Given the description of an element on the screen output the (x, y) to click on. 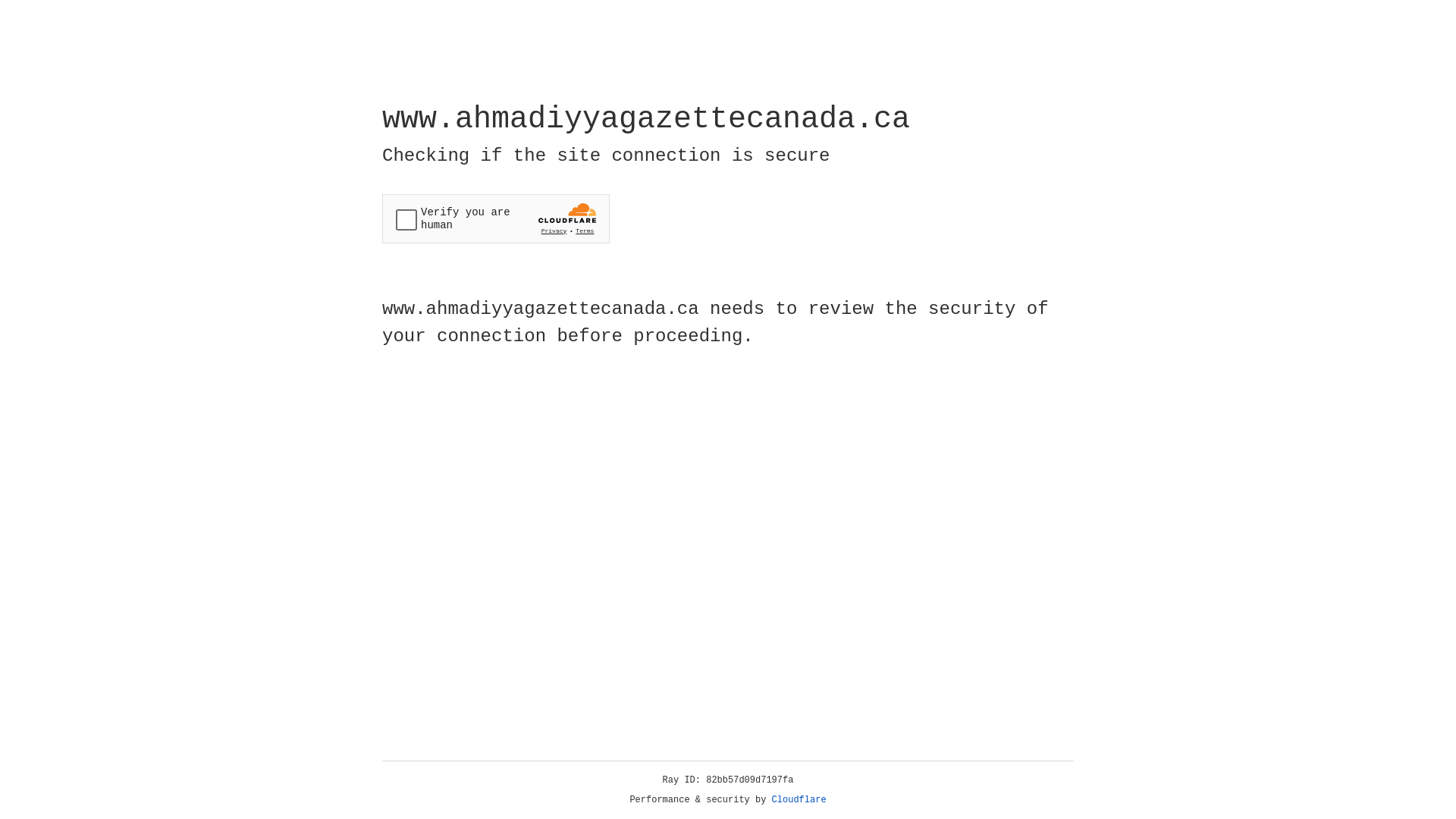
Widget containing a Cloudflare security challenge Element type: hover (495, 218)
Cloudflare Element type: text (798, 799)
